Given the description of an element on the screen output the (x, y) to click on. 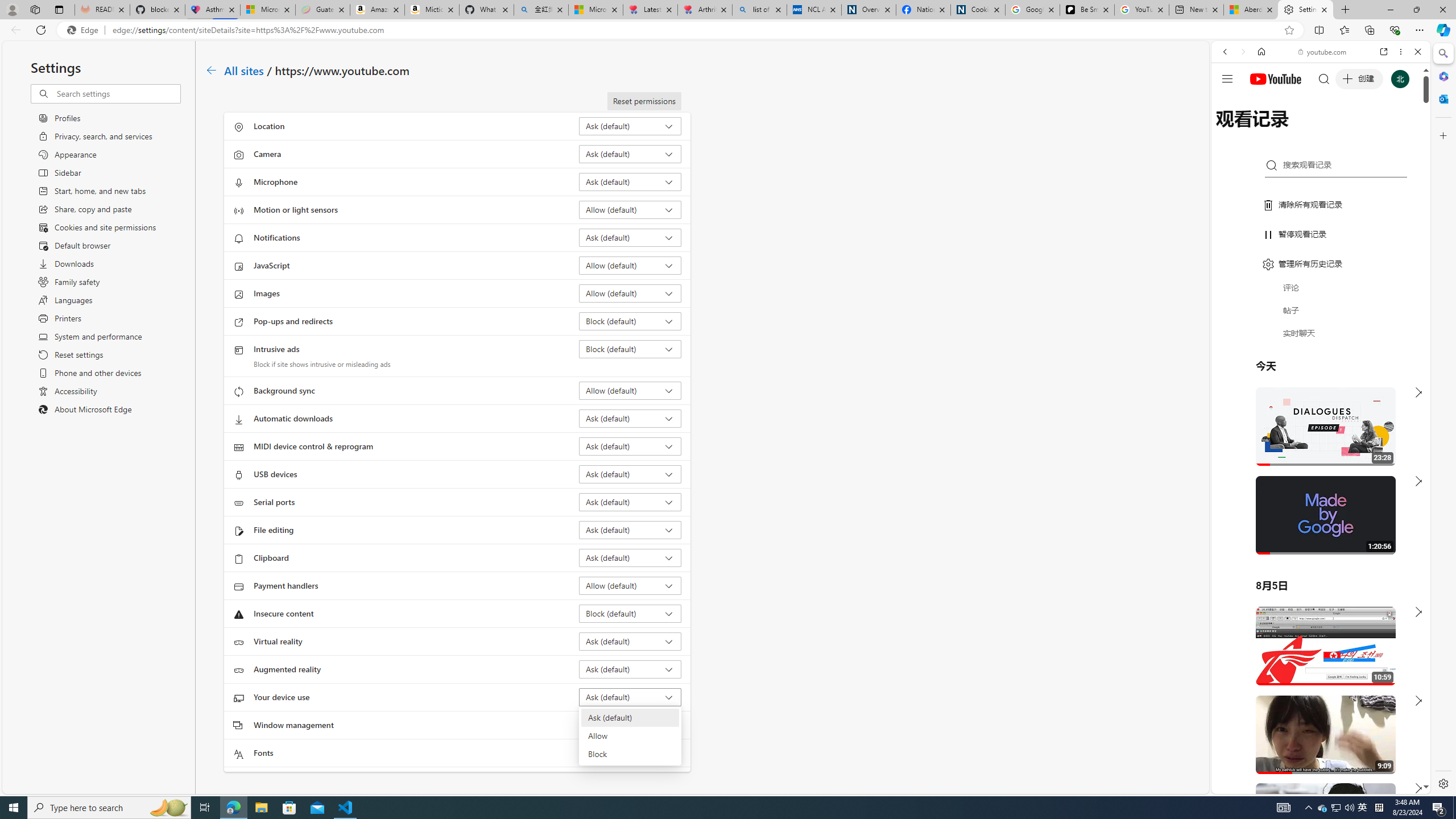
Serial ports Ask (default) (630, 502)
All sites (244, 69)
Reset permissions (644, 100)
Search settings (117, 93)
